Given the description of an element on the screen output the (x, y) to click on. 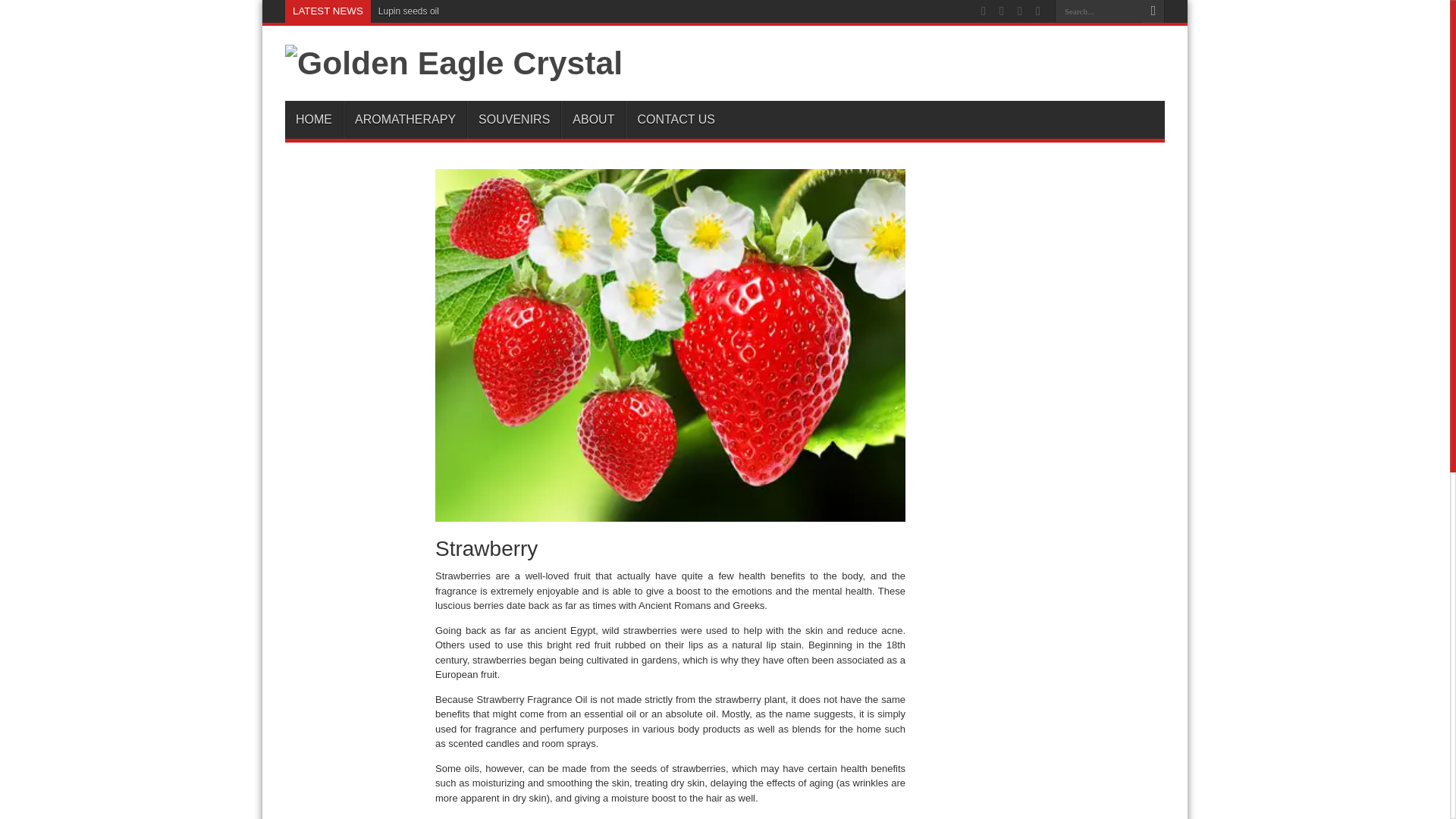
CONTACT US (675, 119)
SOUVENIRS (513, 119)
ABOUT (592, 119)
HOME (313, 119)
Lupin seeds oil (408, 11)
Lupin seeds oil (408, 11)
Search (1152, 11)
Search... (1097, 11)
AROMATHERAPY (404, 119)
